Given the description of an element on the screen output the (x, y) to click on. 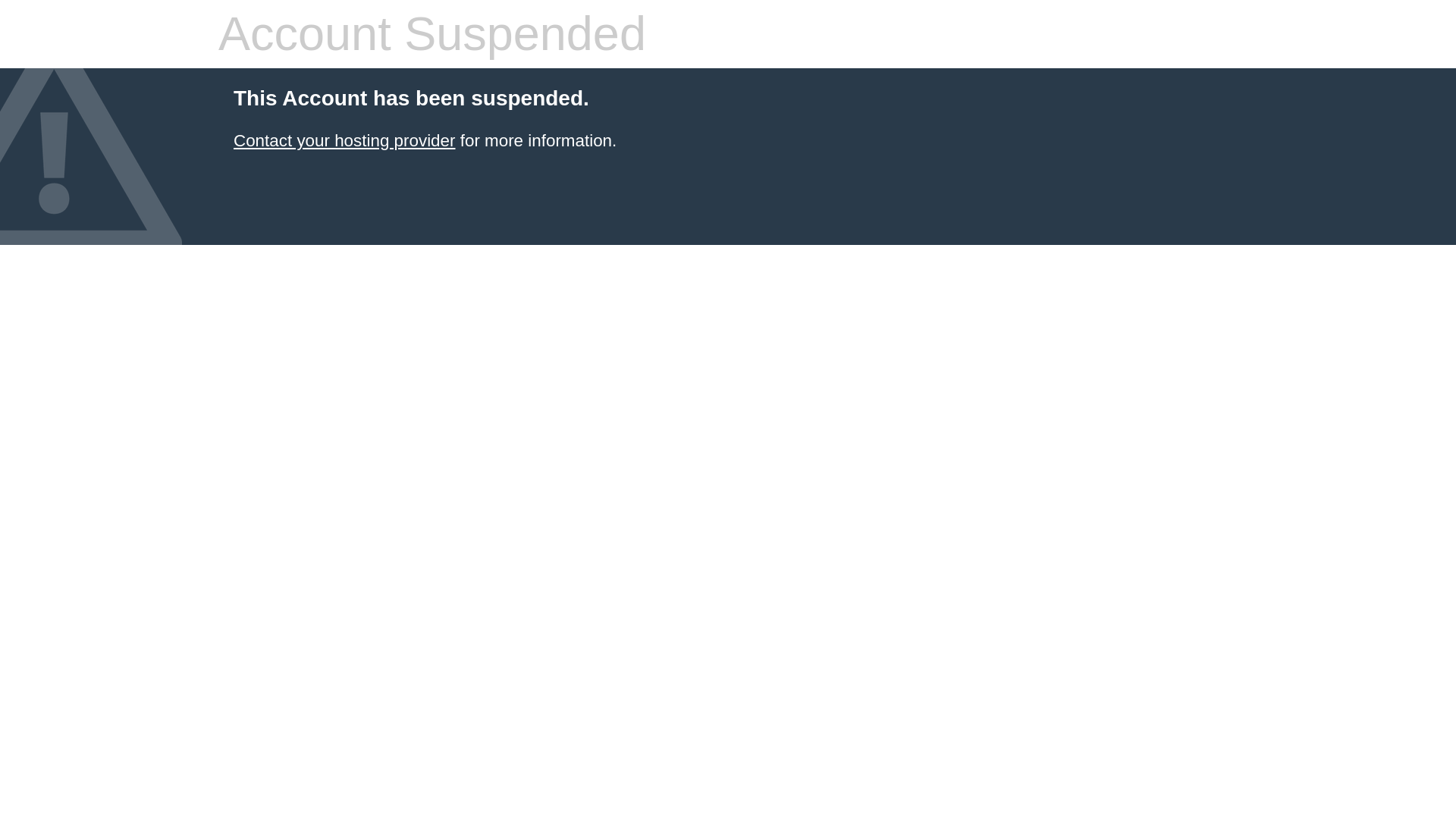
Contact your hosting provider (343, 140)
